Given the description of an element on the screen output the (x, y) to click on. 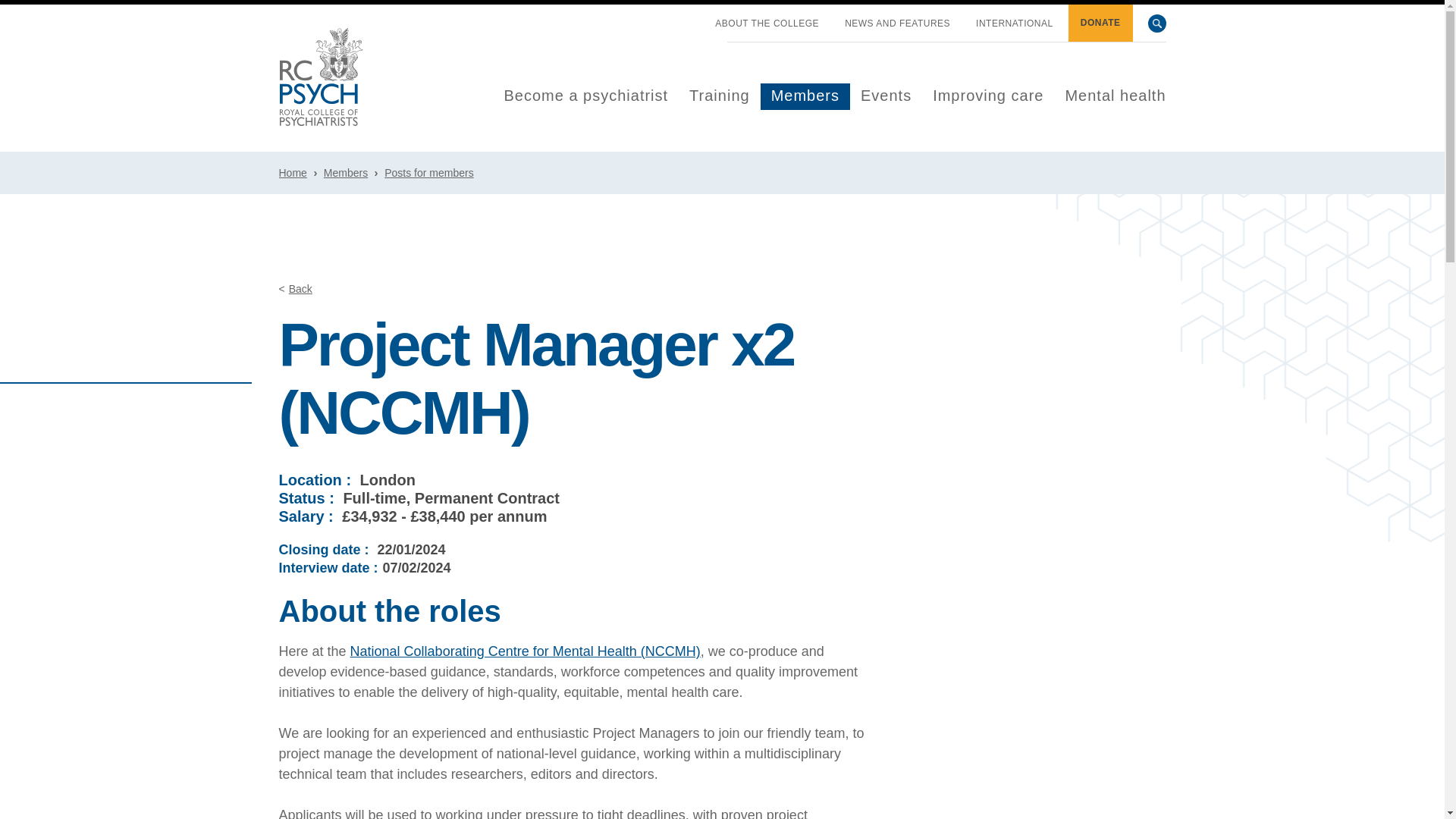
SKIP NAVIGATION (689, 17)
ABOUT THE COLLEGE (766, 23)
DONATE (1100, 22)
INTERNATIONAL (1014, 23)
NEWS AND FEATURES (897, 23)
Search (1157, 23)
Become a psychiatrist (585, 96)
